Given the description of an element on the screen output the (x, y) to click on. 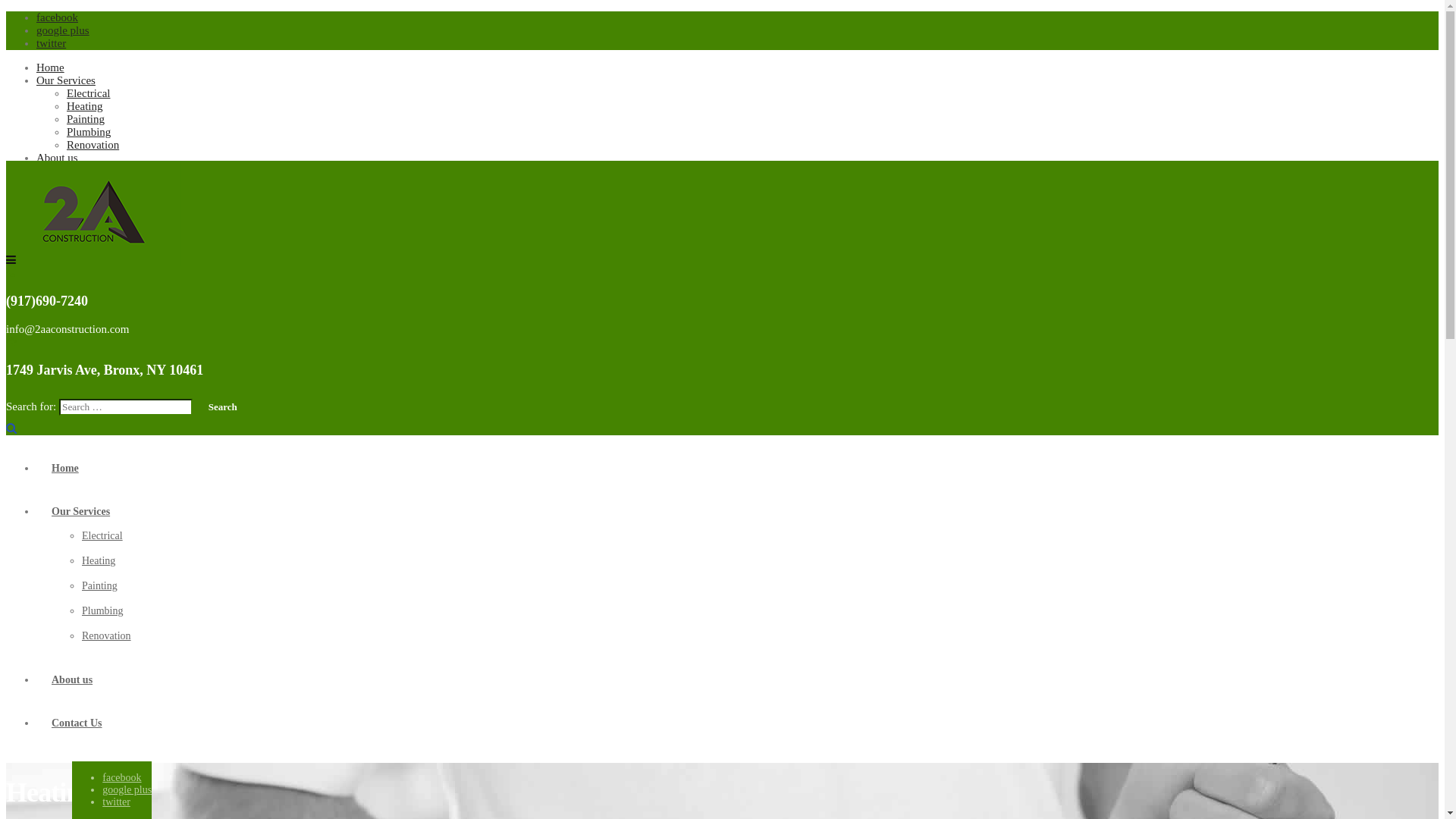
Home Element type: text (50, 67)
Plumbing Element type: text (101, 610)
Painting Element type: text (85, 118)
twitter Element type: text (116, 801)
Electrical Element type: text (87, 93)
Electrical Element type: text (101, 535)
Plumbing Element type: text (88, 131)
Heating Element type: text (98, 560)
Search Element type: text (222, 407)
Contact Us Element type: text (61, 170)
google plus Element type: text (62, 30)
twitter Element type: text (50, 43)
About us Element type: text (57, 157)
About us Element type: text (71, 679)
Renovation Element type: text (92, 144)
Painting Element type: text (99, 585)
Contact Us Element type: text (76, 722)
google plus Element type: text (126, 789)
Our Services Element type: text (65, 80)
Home Element type: text (64, 467)
Our Services Element type: text (80, 511)
facebook Element type: text (121, 777)
Heating Element type: text (84, 106)
Renovation Element type: text (106, 635)
facebook Element type: text (57, 17)
